Given the description of an element on the screen output the (x, y) to click on. 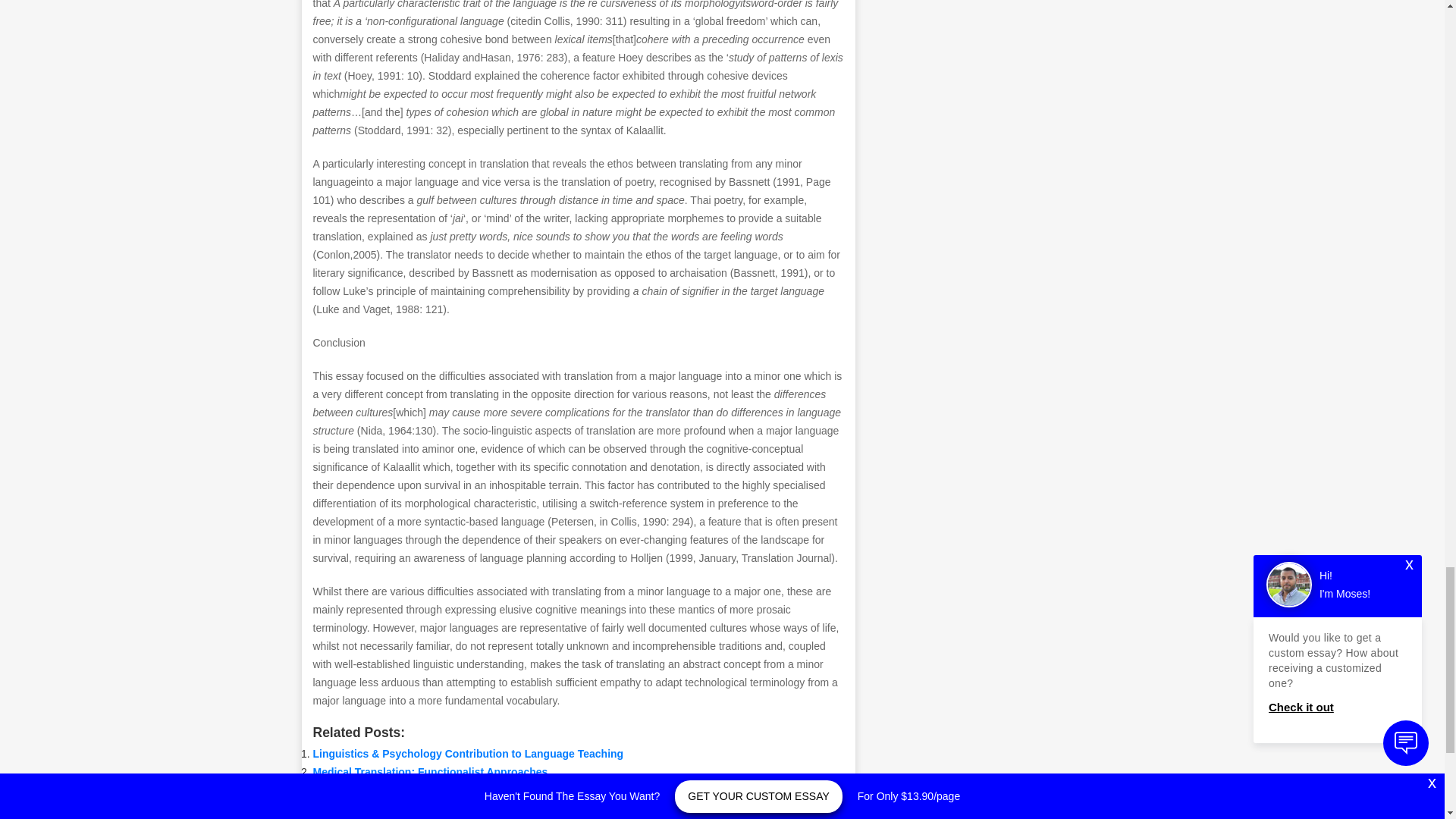
Psychological research into language, and sex and gender (460, 808)
The Language And Gender Sociology Essay (424, 789)
Psychological research into language, and sex and gender (460, 808)
The Language And Gender Sociology Essay (424, 789)
Medical Translation: Functionalist Approaches (430, 771)
Medical Translation: Functionalist Approaches (430, 771)
